Given the description of an element on the screen output the (x, y) to click on. 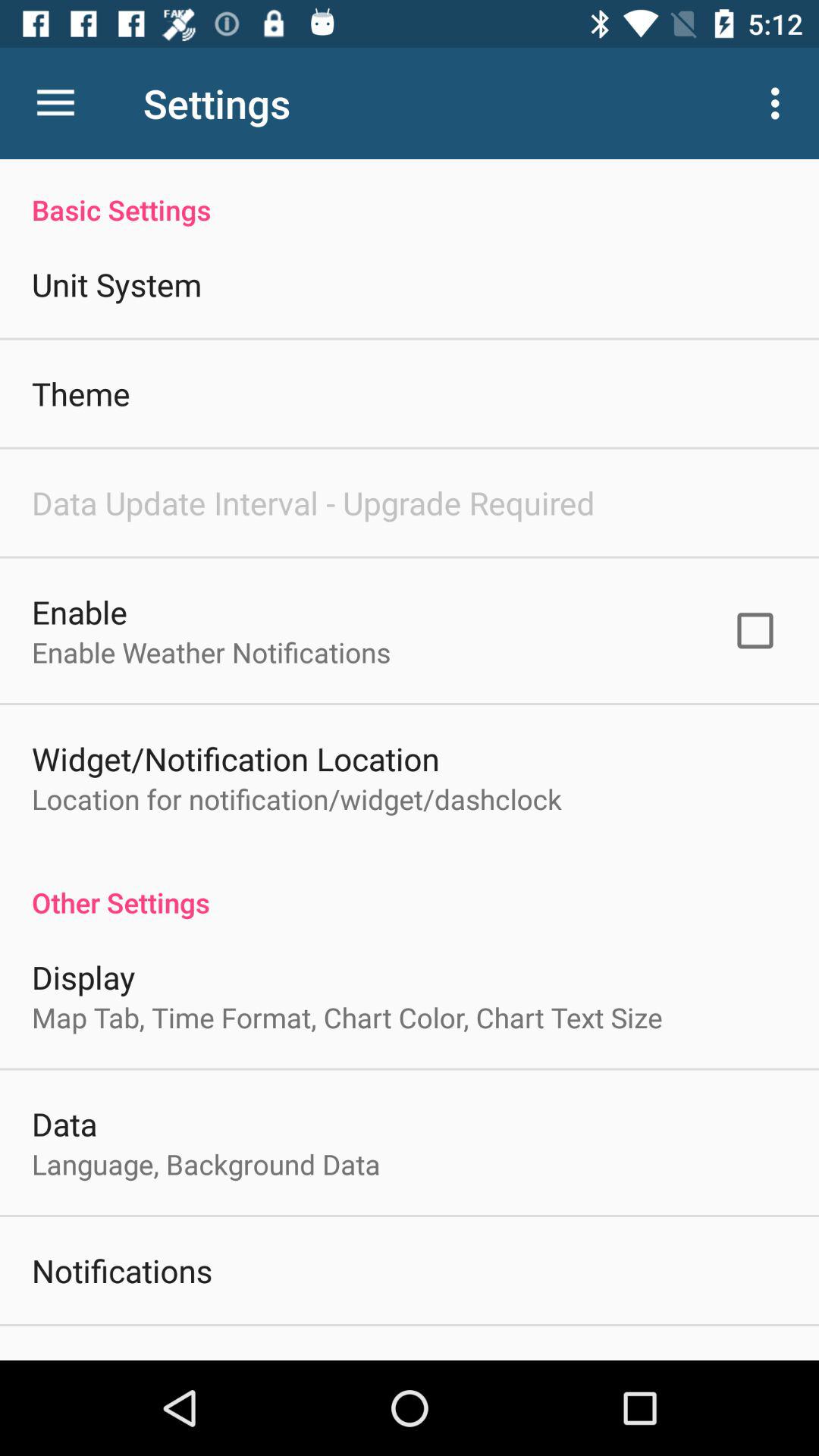
press icon to the left of the settings (55, 103)
